Given the description of an element on the screen output the (x, y) to click on. 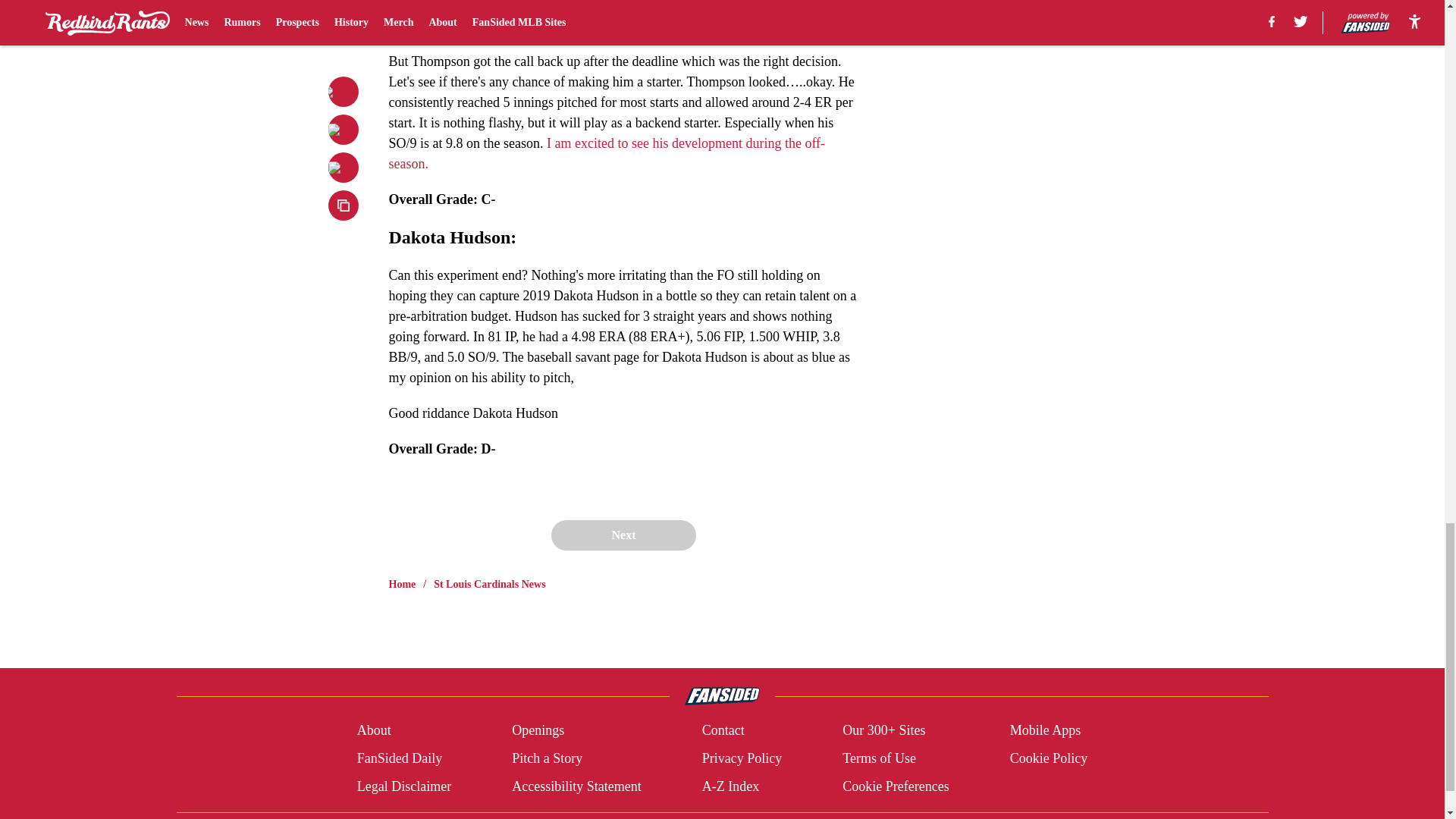
A-Z Index (729, 786)
FanSided Daily (399, 758)
I am excited to see his development during the off-season. (606, 153)
Pitch a Story (547, 758)
Mobile Apps (1045, 730)
Privacy Policy (742, 758)
Accessibility Statement (576, 786)
Home (401, 584)
About (373, 730)
Next (622, 535)
